Given the description of an element on the screen output the (x, y) to click on. 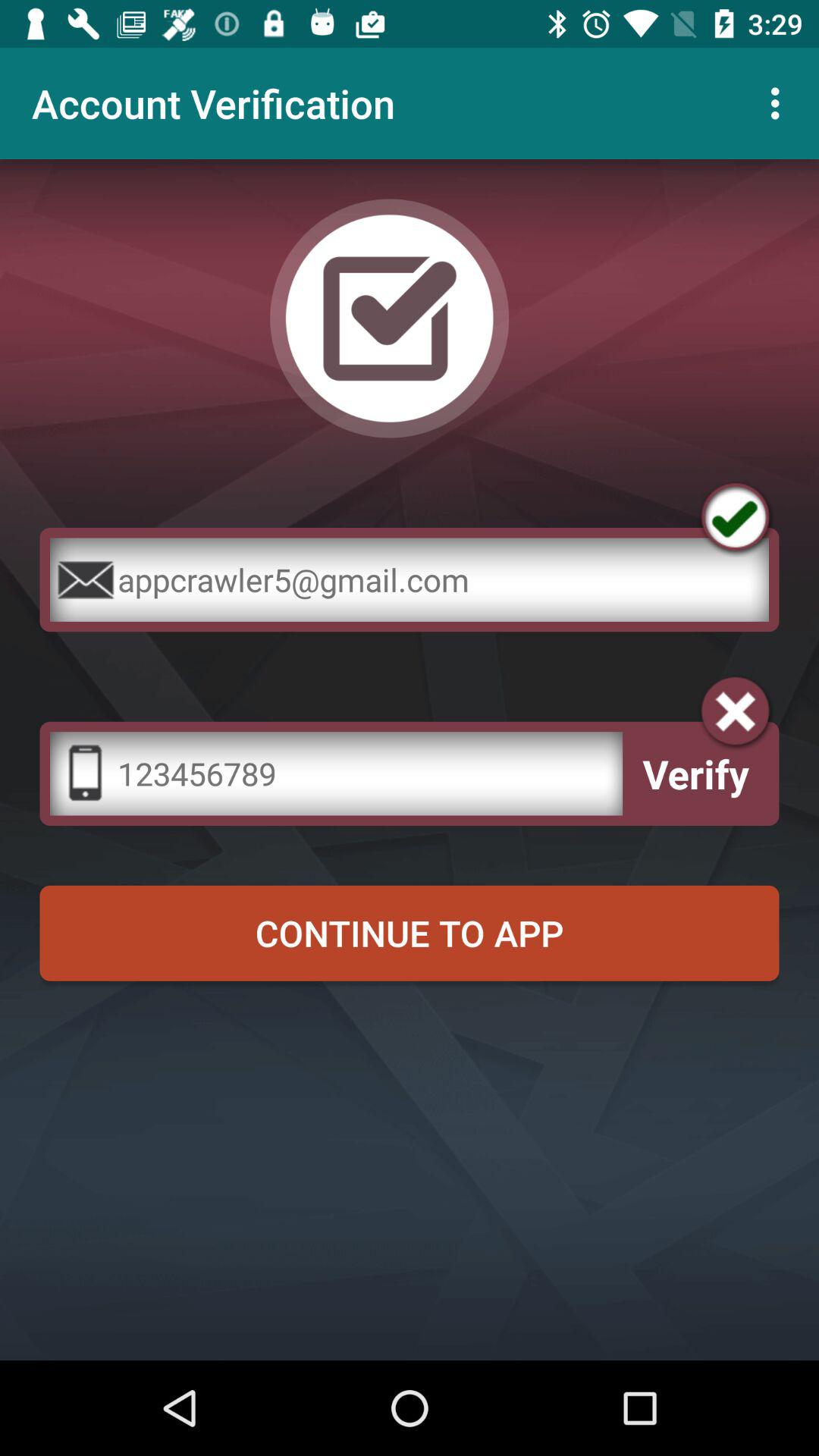
turn on icon to the right of account verification app (779, 103)
